Given the description of an element on the screen output the (x, y) to click on. 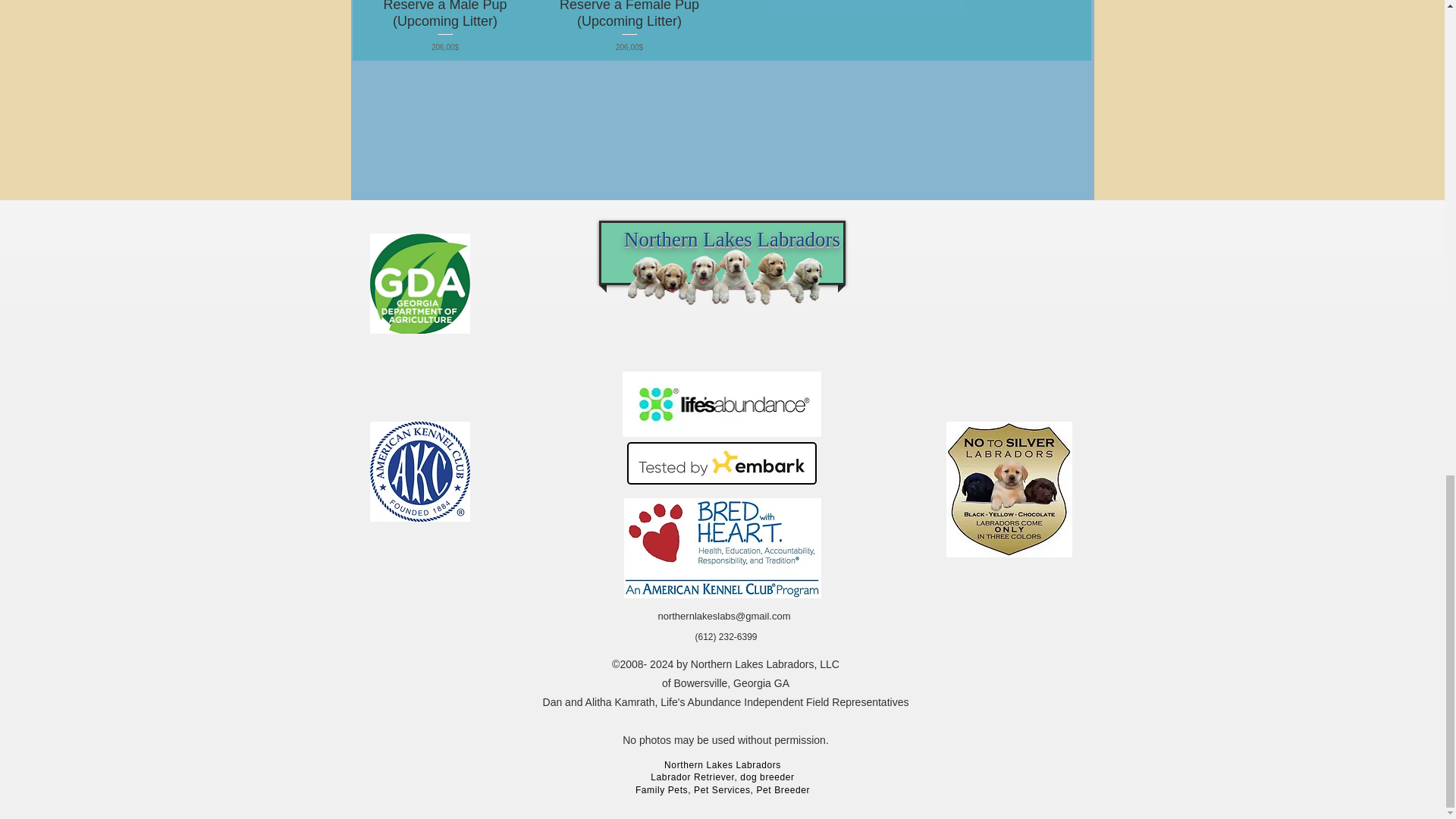
Life's Abundance Dog Food Logo (721, 403)
